Given the description of an element on the screen output the (x, y) to click on. 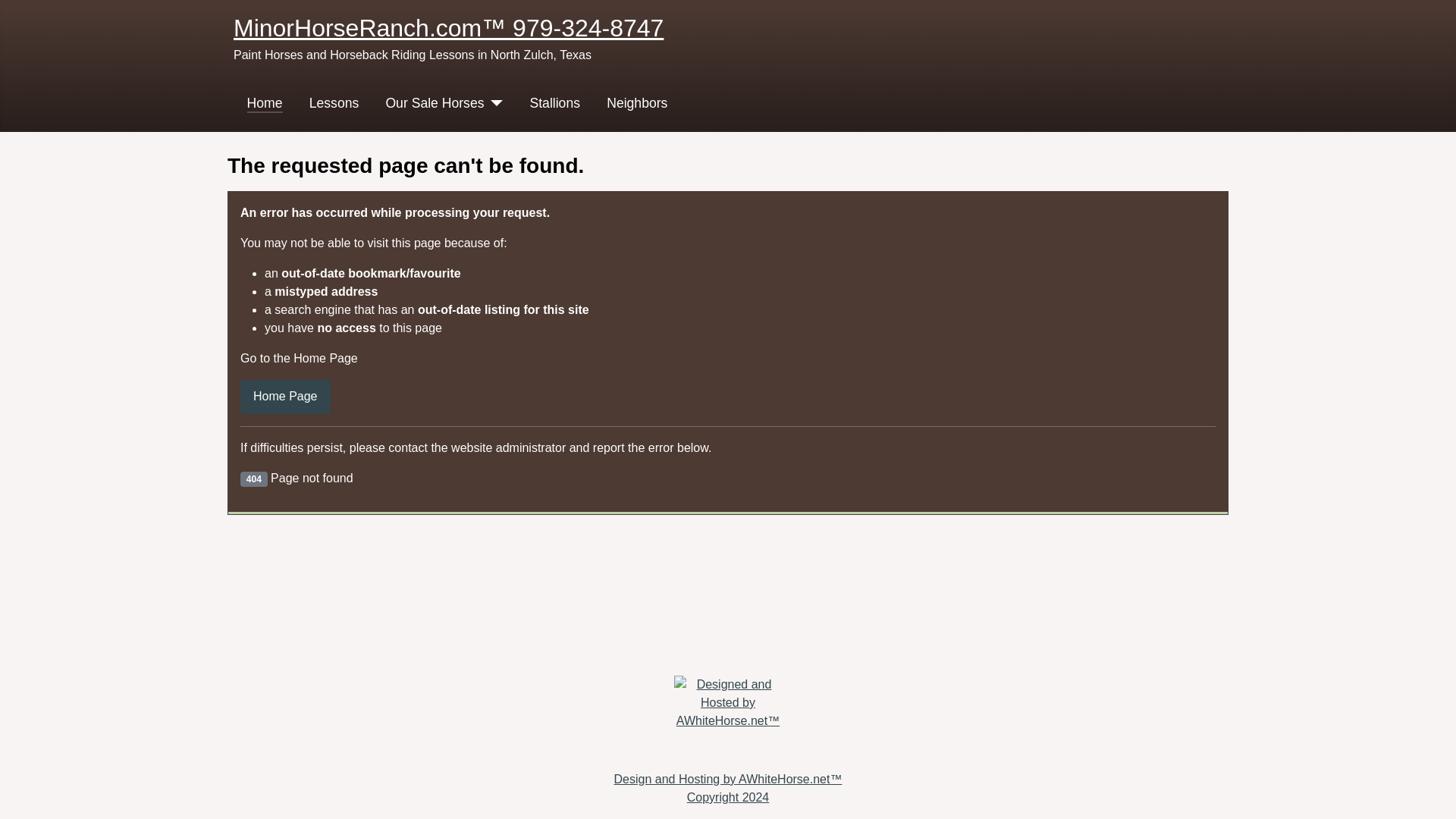
Neighbors (636, 103)
Lessons (333, 103)
Our Sale Horses (434, 103)
Home (264, 103)
Stallions (554, 103)
Home Page (285, 397)
